Given the description of an element on the screen output the (x, y) to click on. 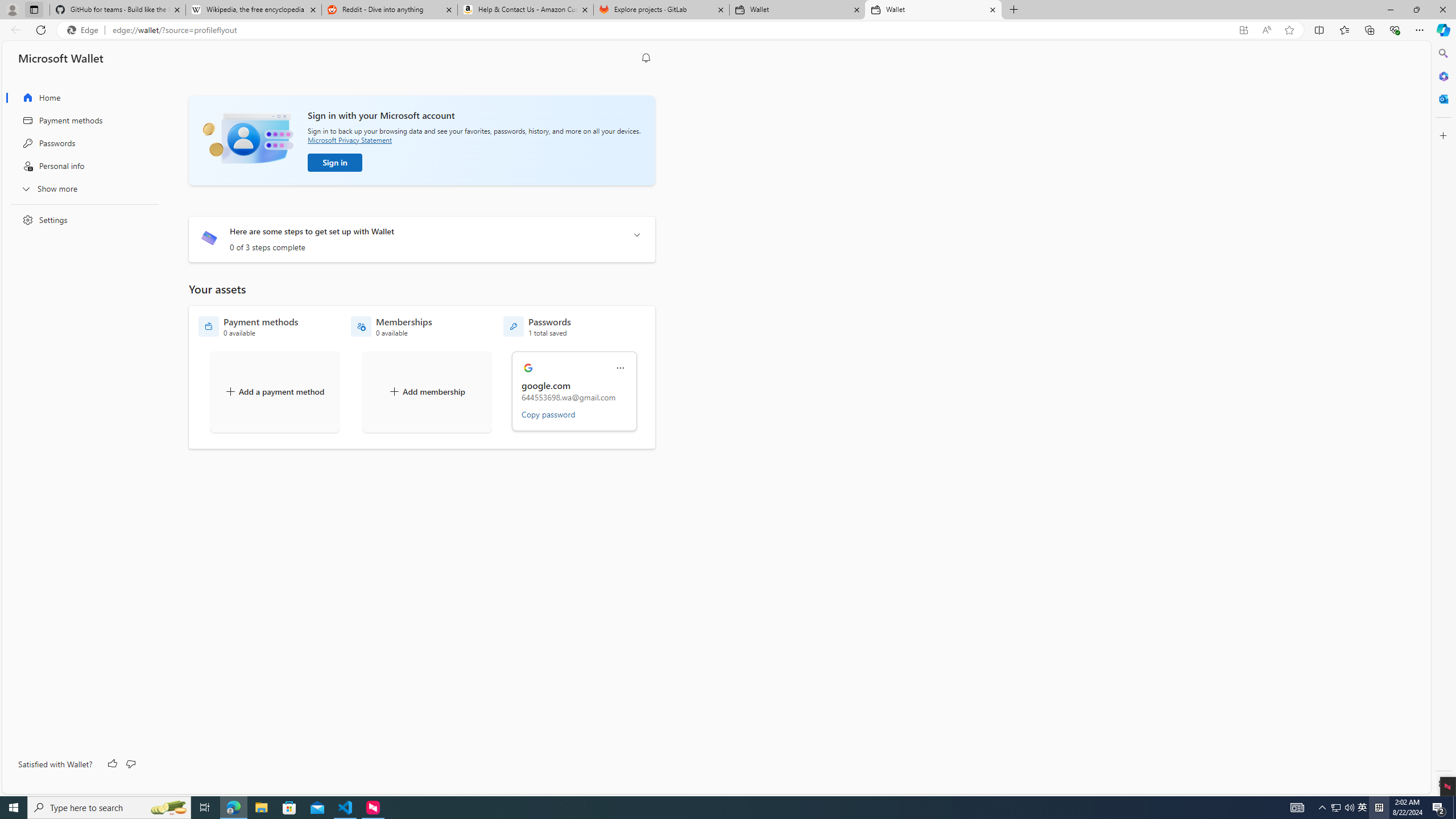
More actions google.com 644553698.wa@gmail.com Copy password (574, 391)
Like (112, 764)
More actions (619, 368)
Passwords - 1 total saved (537, 326)
Add membership (427, 391)
